Given the description of an element on the screen output the (x, y) to click on. 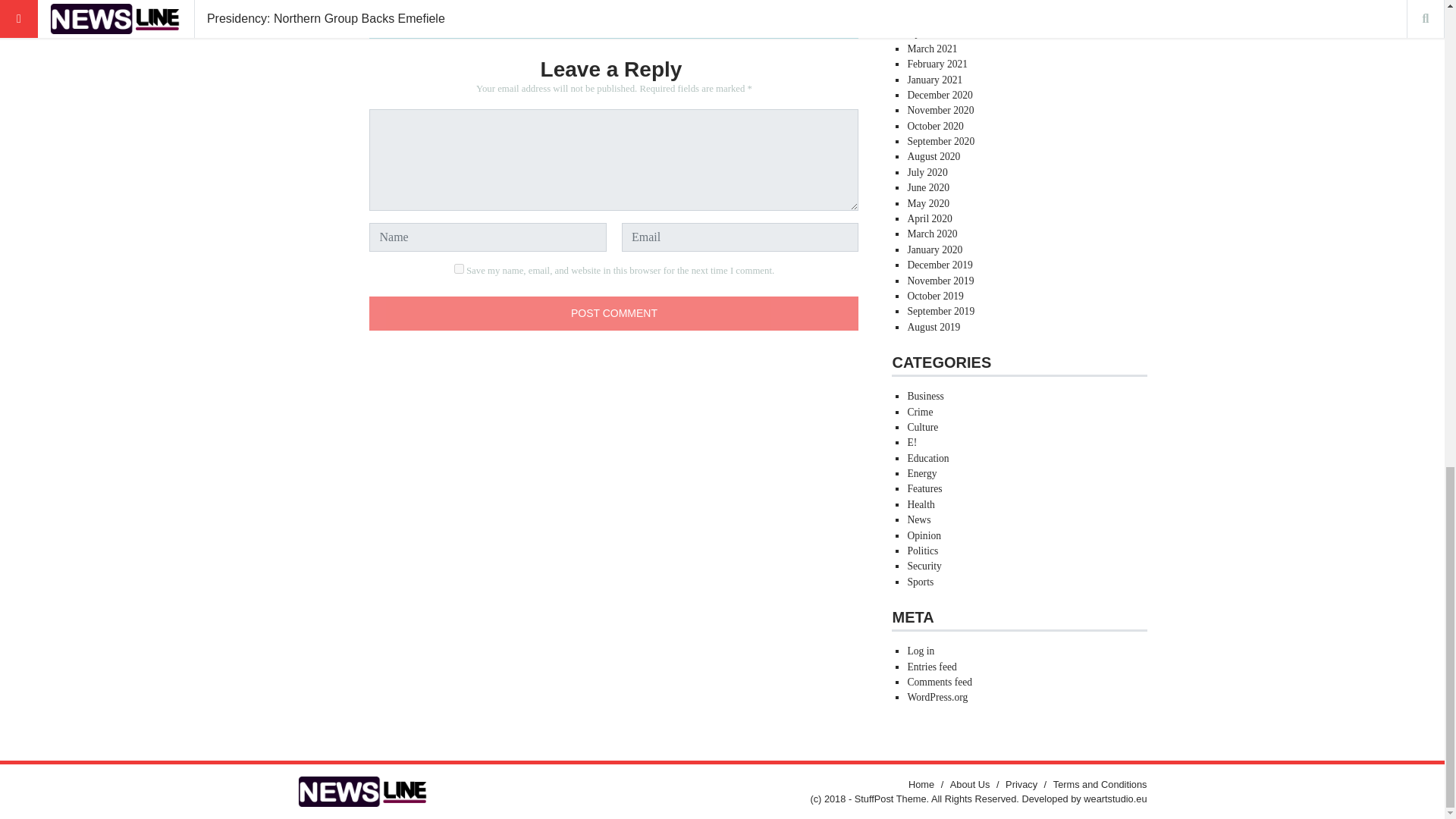
Post Comment (614, 313)
yes (459, 268)
Post Comment (614, 313)
